Given the description of an element on the screen output the (x, y) to click on. 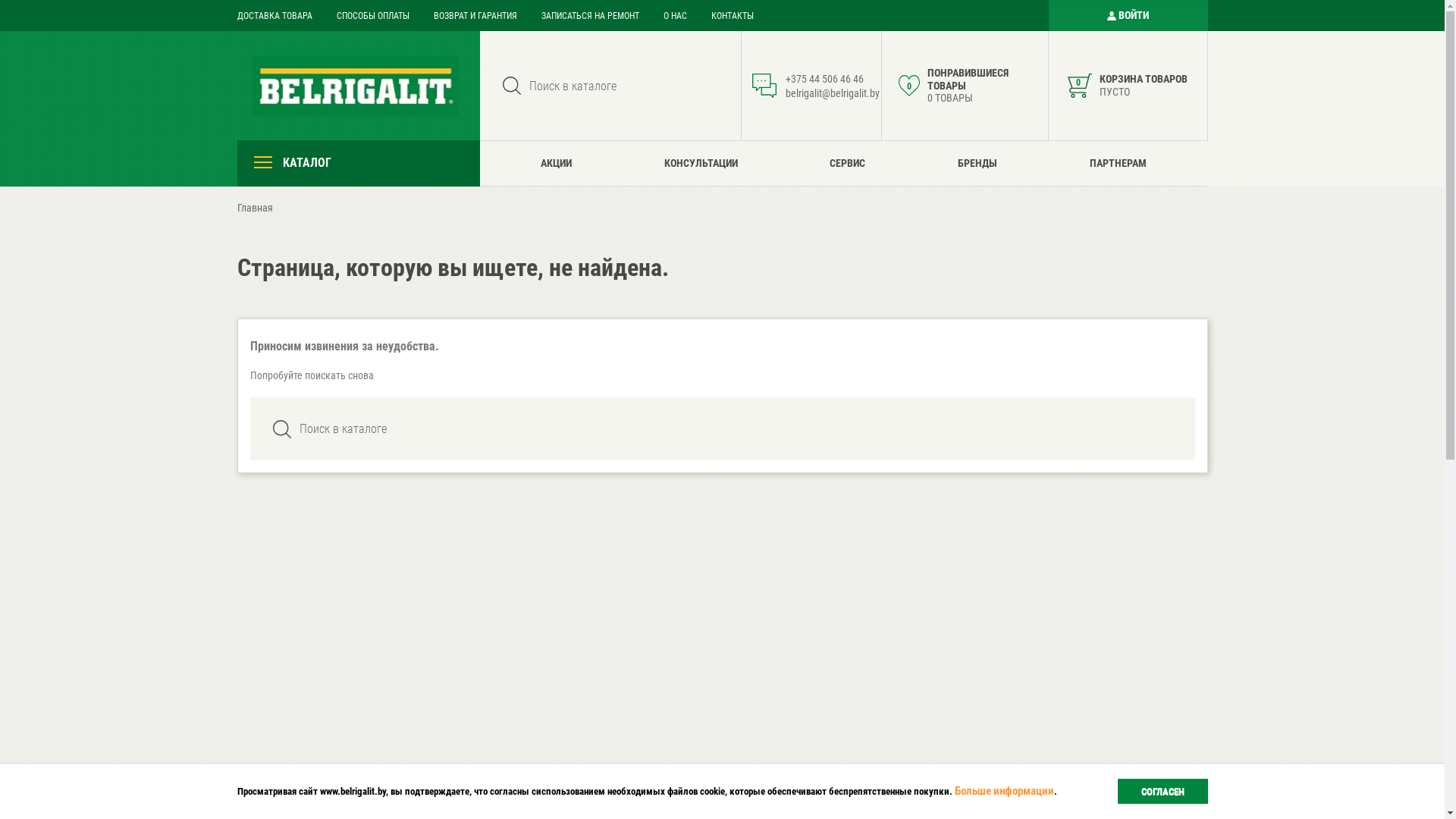
+375 44 506 46 46 Element type: text (824, 78)
belrigalit@belrigalit.by Element type: text (832, 93)
